Given the description of an element on the screen output the (x, y) to click on. 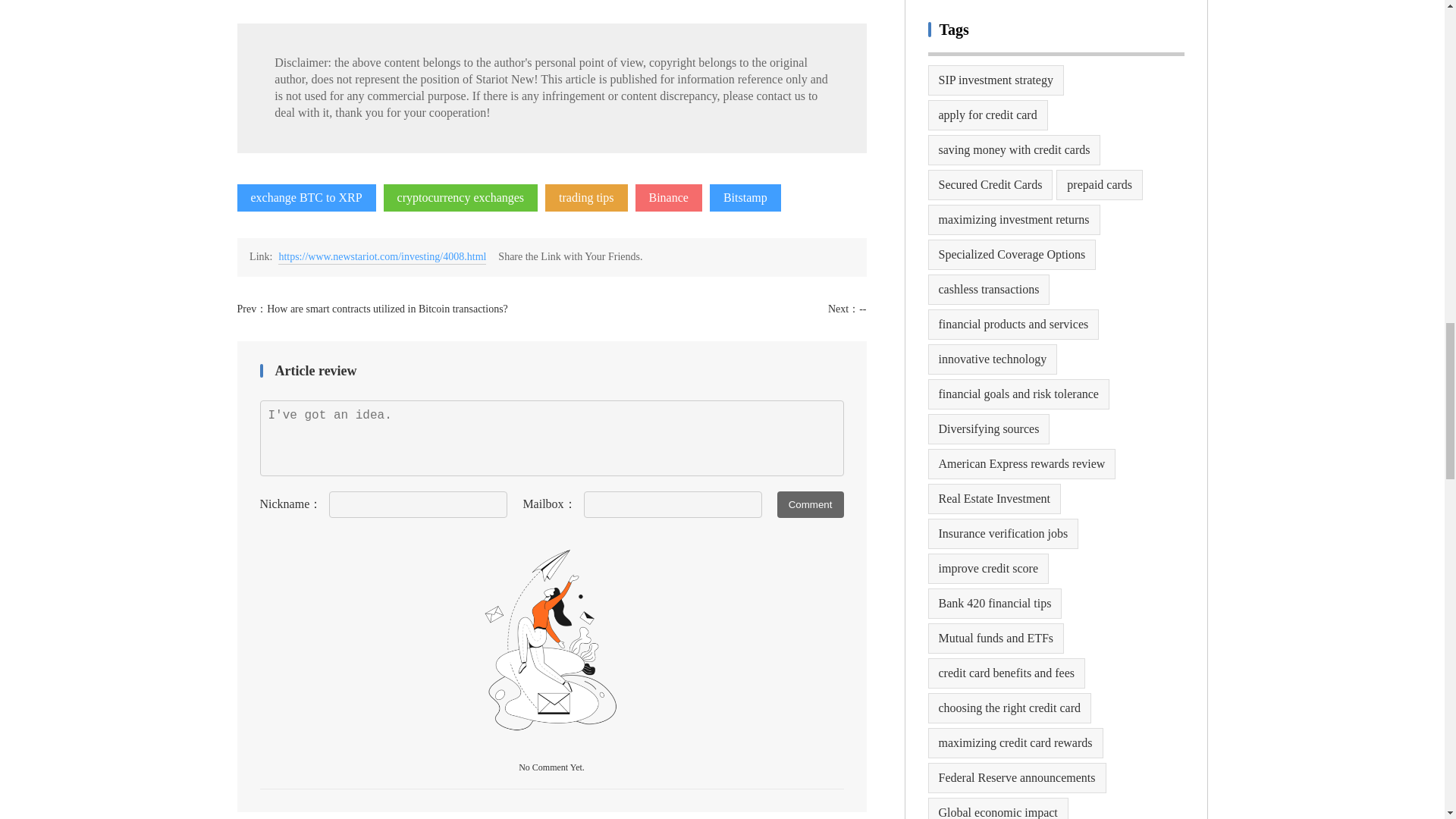
Comment (810, 504)
cryptocurrency exchanges (460, 197)
Binance (667, 197)
Bitstamp (745, 197)
How are smart contracts utilized in Bitcoin transactions? (387, 308)
trading tips (585, 197)
exchange BTC to XRP (305, 197)
exchange BTC to XRP (305, 197)
cryptocurrency exchanges (460, 197)
Bitstamp (745, 197)
Binance (667, 197)
trading tips (585, 197)
